Given the description of an element on the screen output the (x, y) to click on. 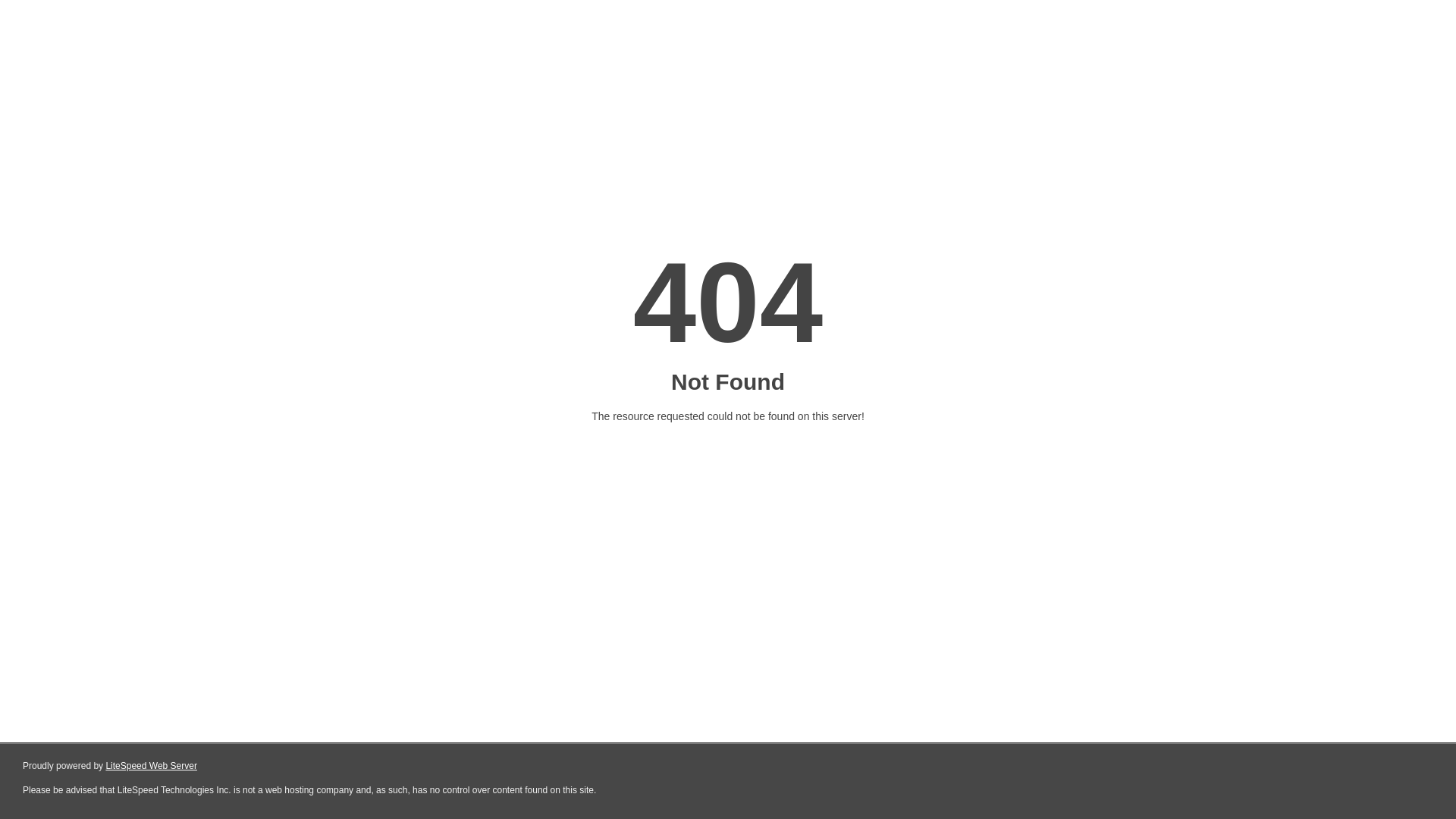
LiteSpeed Web Server Element type: text (151, 765)
